Given the description of an element on the screen output the (x, y) to click on. 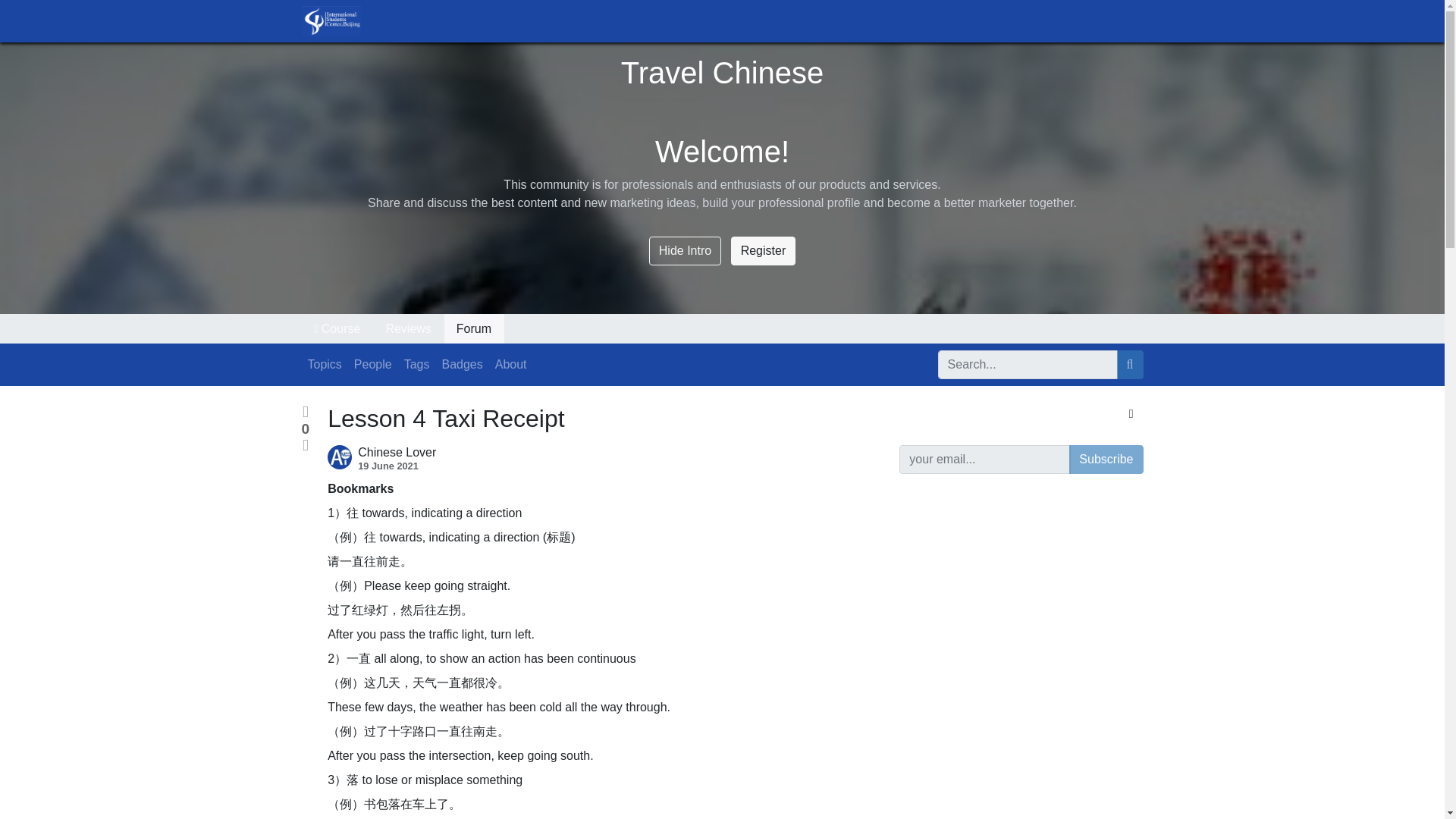
About (510, 364)
Forum (473, 328)
Course (337, 328)
Learn Chinese ISCBJ.COM (331, 20)
Tags (416, 364)
Topics (324, 364)
Badges (461, 364)
People (372, 364)
Reviews (408, 328)
Register (763, 250)
